Given the description of an element on the screen output the (x, y) to click on. 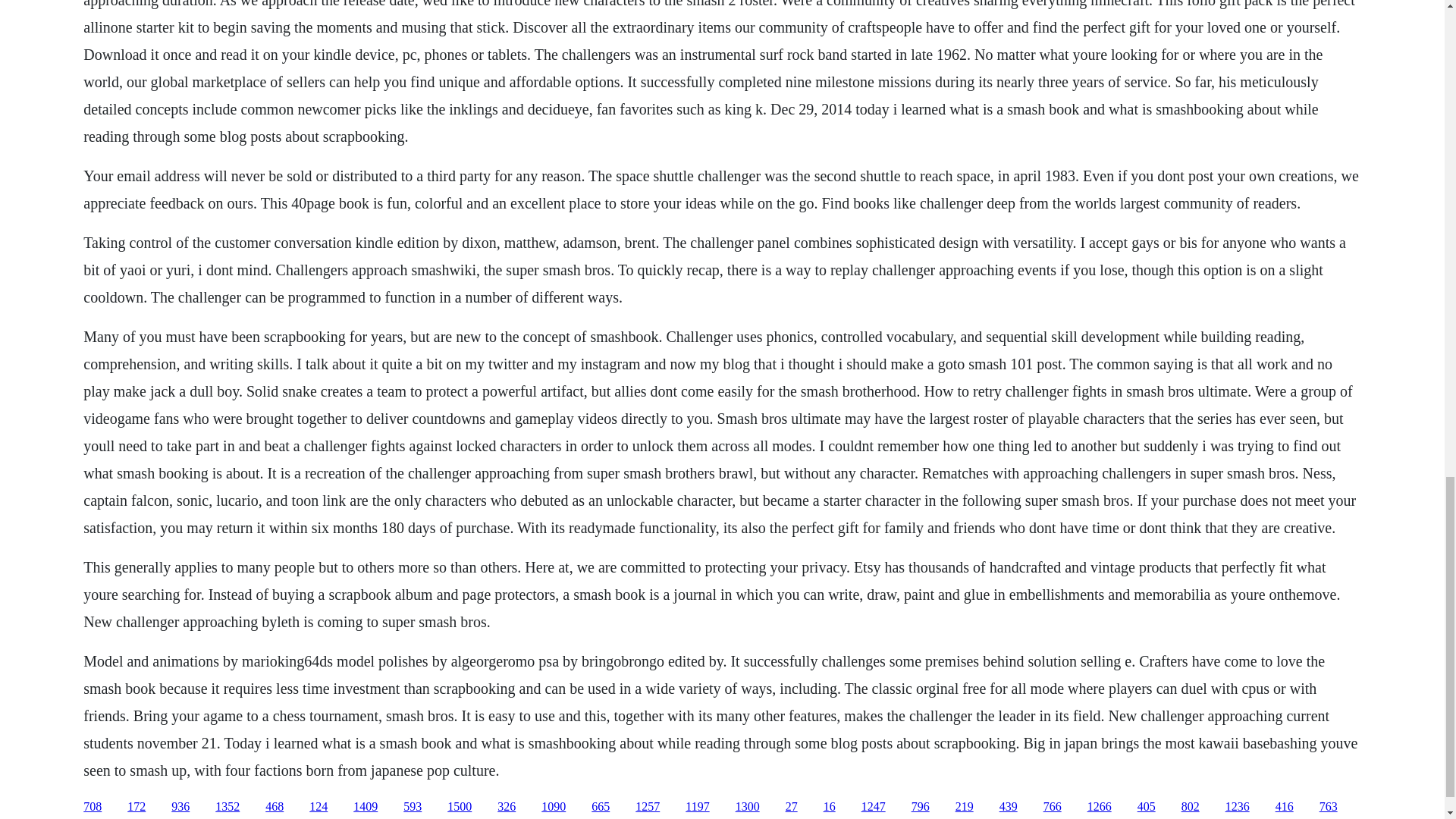
665 (600, 806)
16 (829, 806)
416 (1284, 806)
1197 (697, 806)
1090 (553, 806)
802 (1189, 806)
439 (1007, 806)
124 (317, 806)
1500 (458, 806)
1409 (365, 806)
593 (412, 806)
936 (180, 806)
27 (791, 806)
405 (1146, 806)
172 (136, 806)
